Given the description of an element on the screen output the (x, y) to click on. 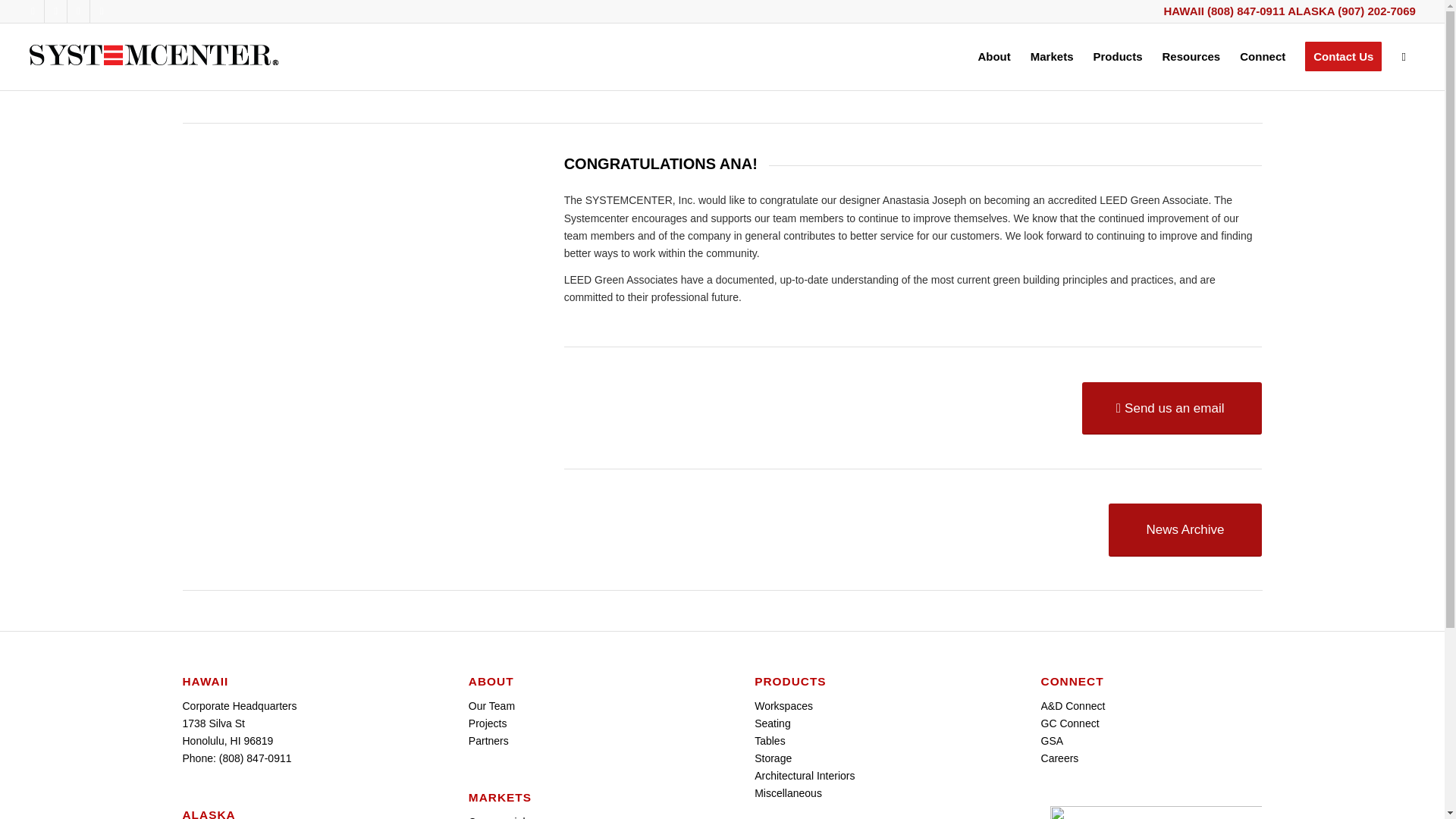
Instagram (77, 11)
Markets (1051, 56)
Products (1117, 56)
Facebook (55, 11)
LinkedIn (32, 11)
Mail (101, 11)
